Given the description of an element on the screen output the (x, y) to click on. 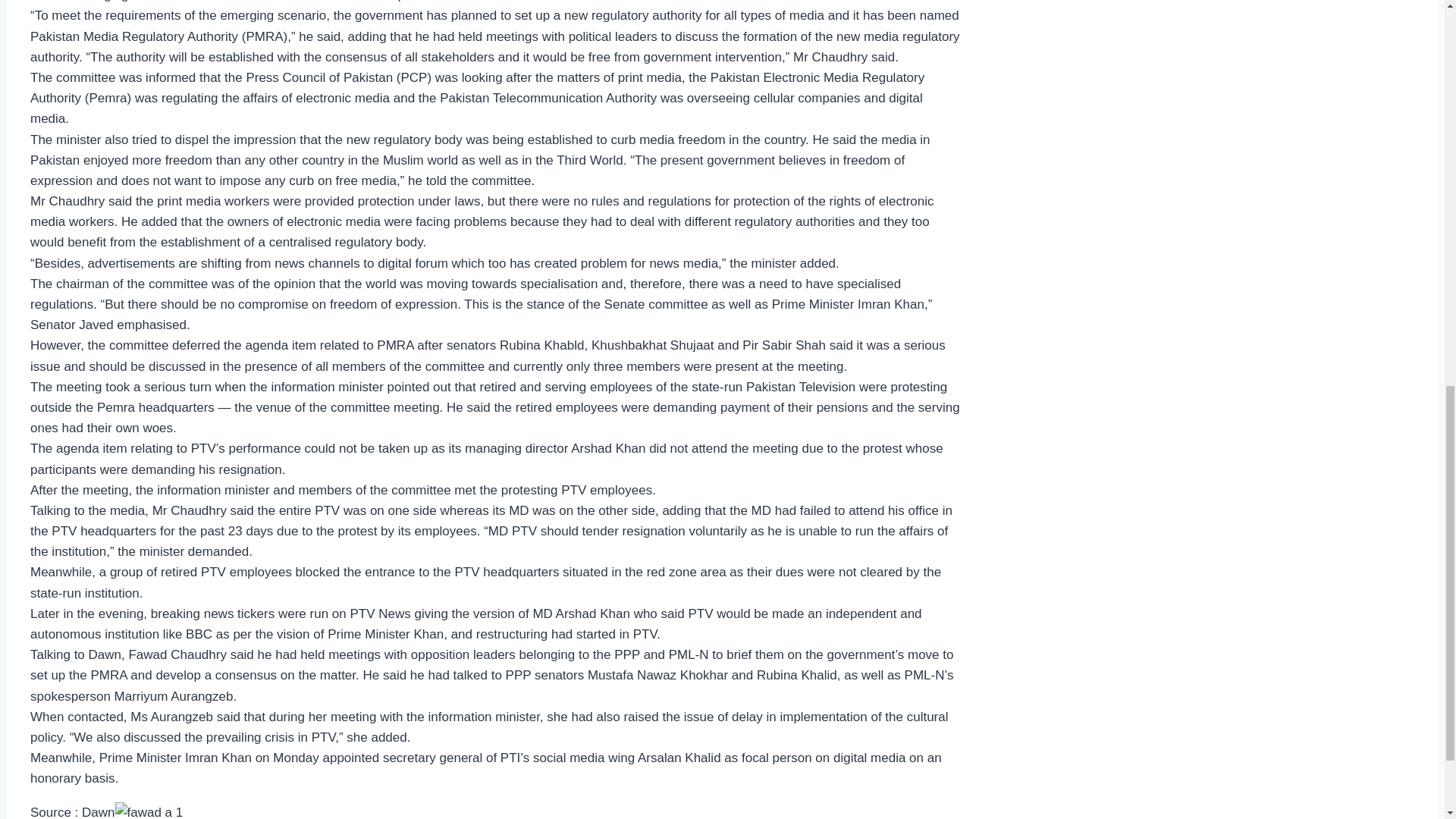
Fawad insists on one regulatory authority for all media 1 (149, 810)
